Given the description of an element on the screen output the (x, y) to click on. 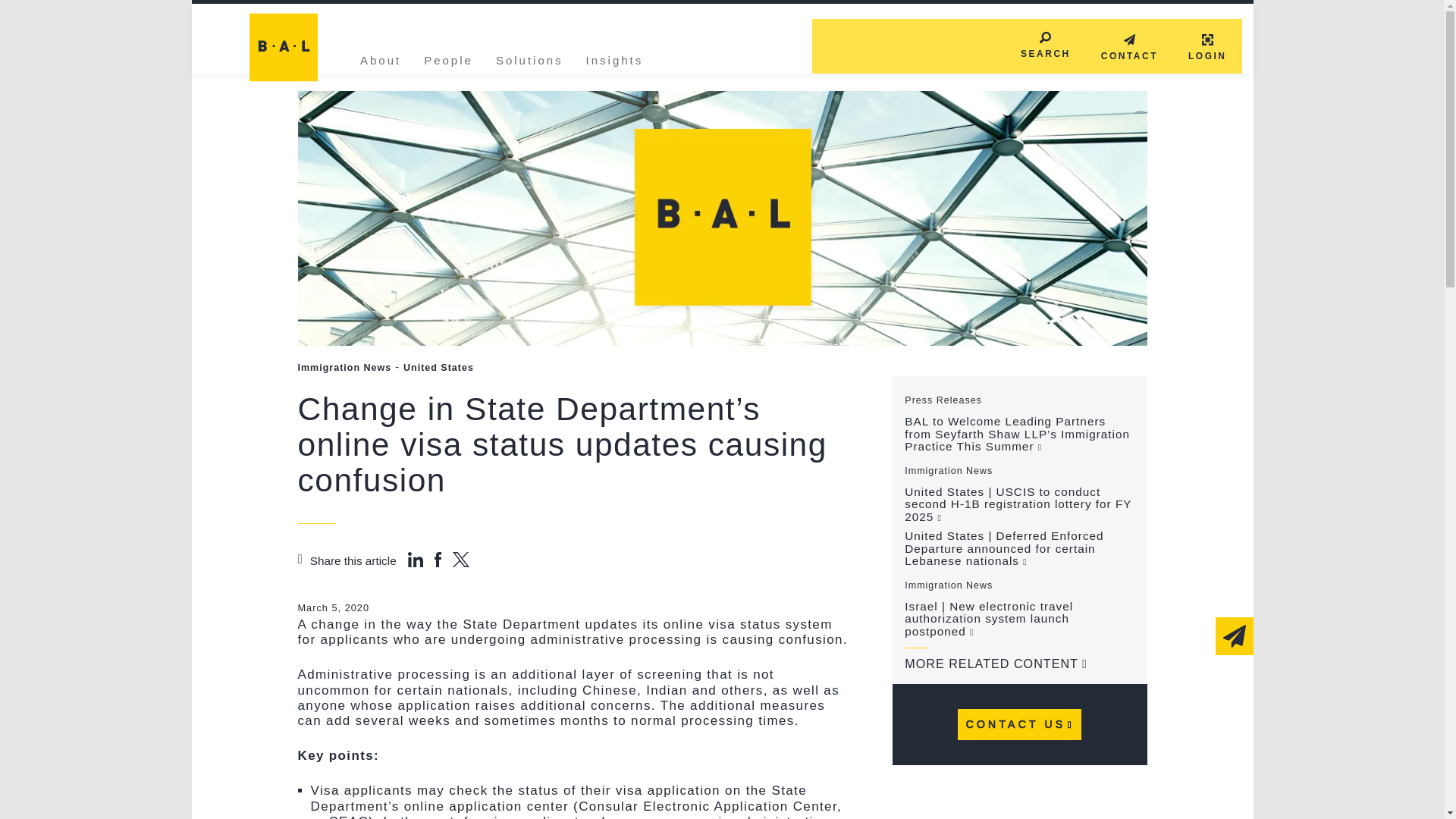
Solutions (529, 58)
About (380, 58)
People (448, 58)
Insights (614, 58)
